Given the description of an element on the screen output the (x, y) to click on. 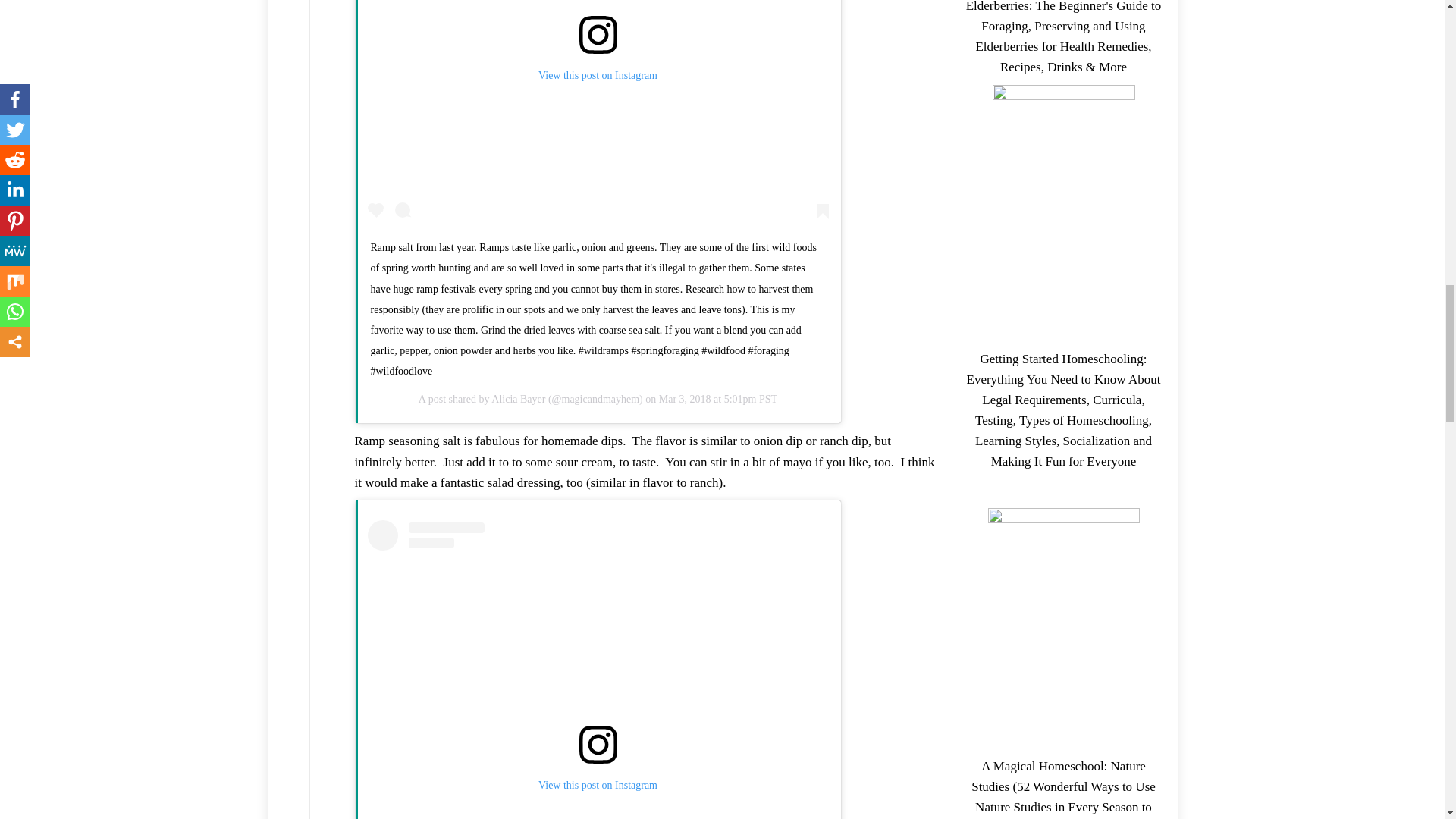
Alicia Bayer (518, 398)
View this post on Instagram (597, 113)
